Given the description of an element on the screen output the (x, y) to click on. 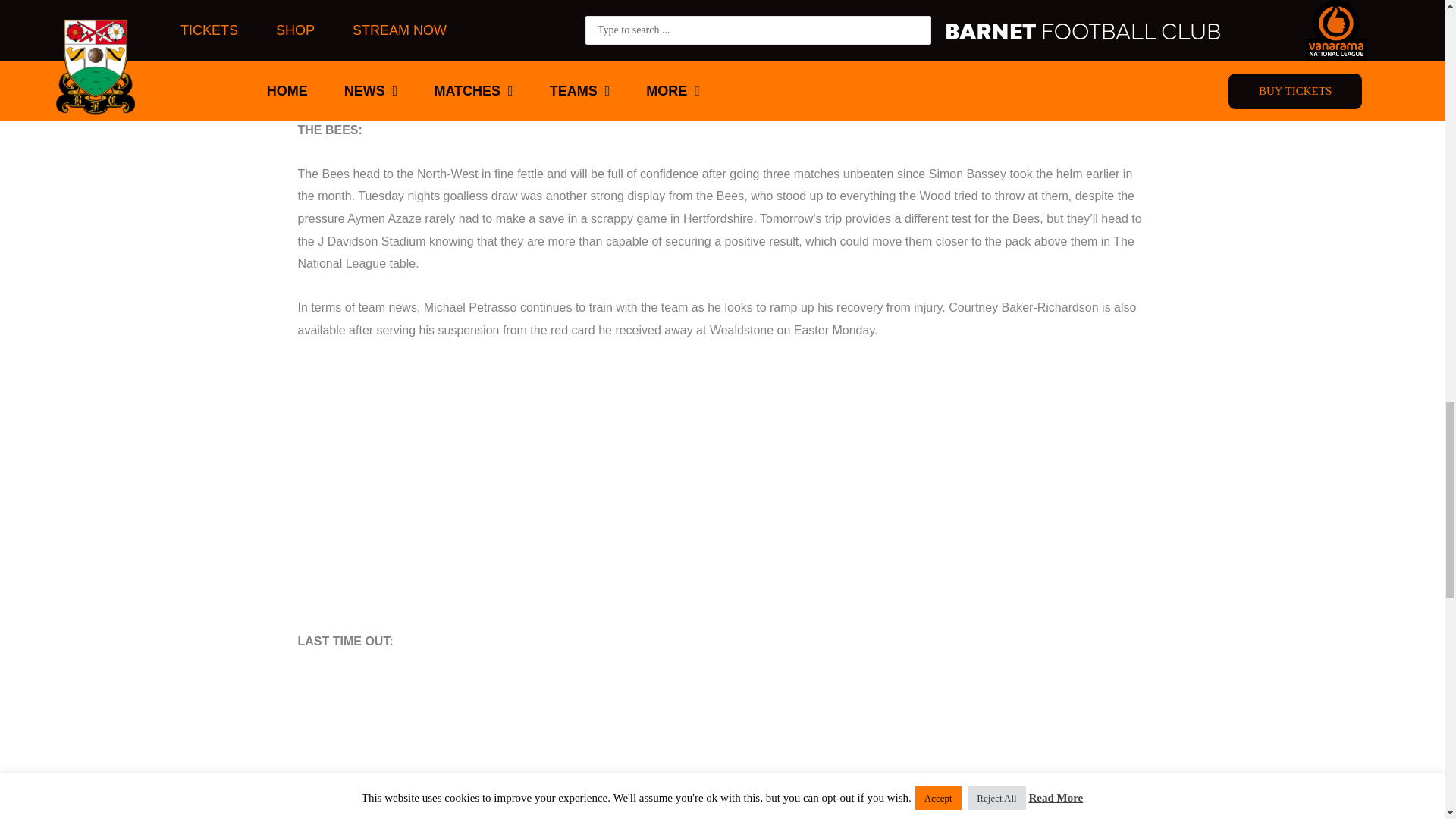
YouTube video player (722, 45)
YouTube video player (722, 746)
